Given the description of an element on the screen output the (x, y) to click on. 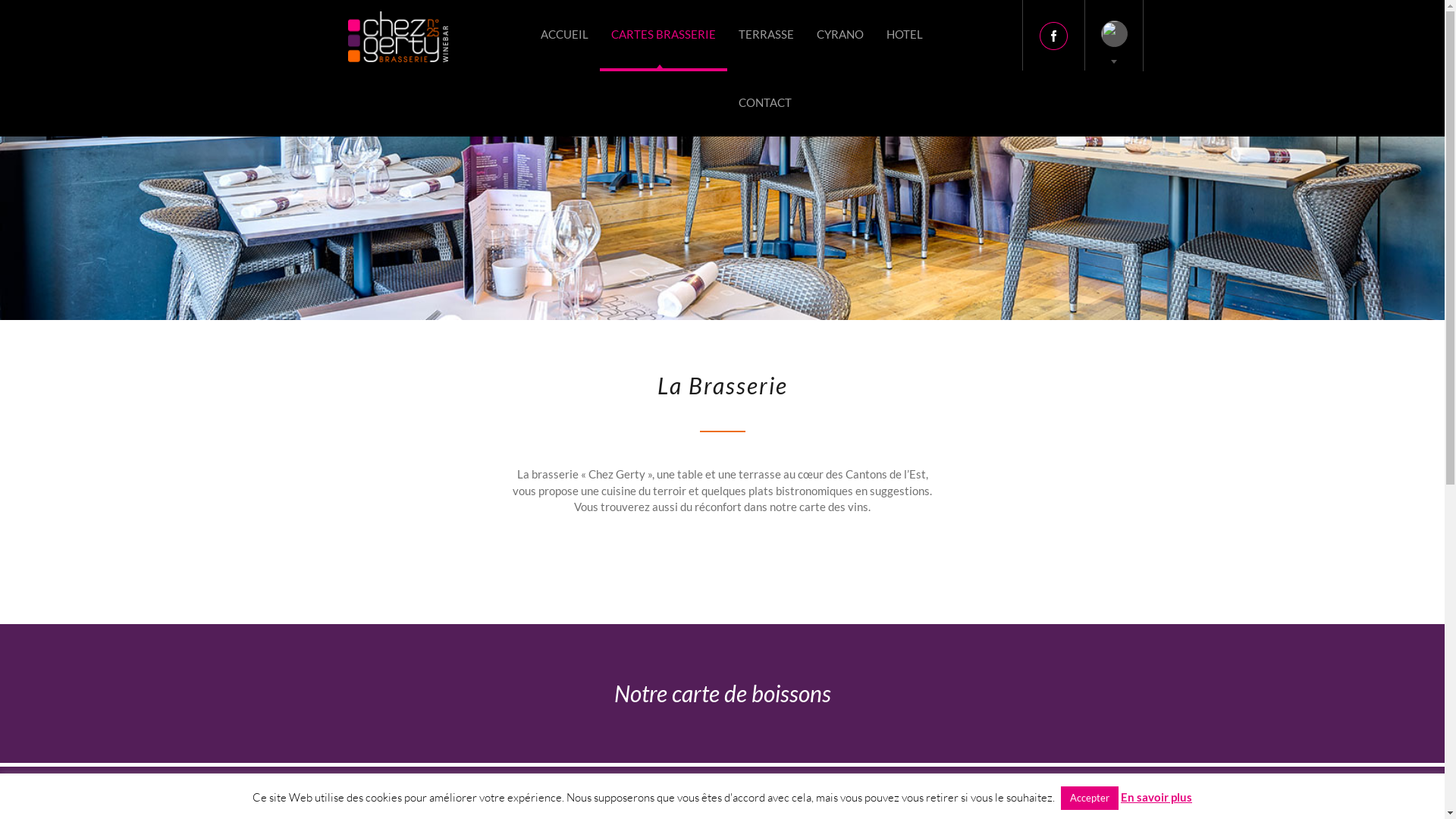
HOTEL Element type: text (904, 34)
Accepter Element type: text (1089, 797)
CONTACT Element type: text (764, 102)
TERRASSE Element type: text (765, 34)
CYRANO Element type: text (840, 34)
Notre carte de boissons Element type: text (722, 693)
En savoir plus Element type: text (1156, 796)
CARTES BRASSERIE Element type: text (662, 34)
ACCUEIL Element type: text (564, 34)
